Given the description of an element on the screen output the (x, y) to click on. 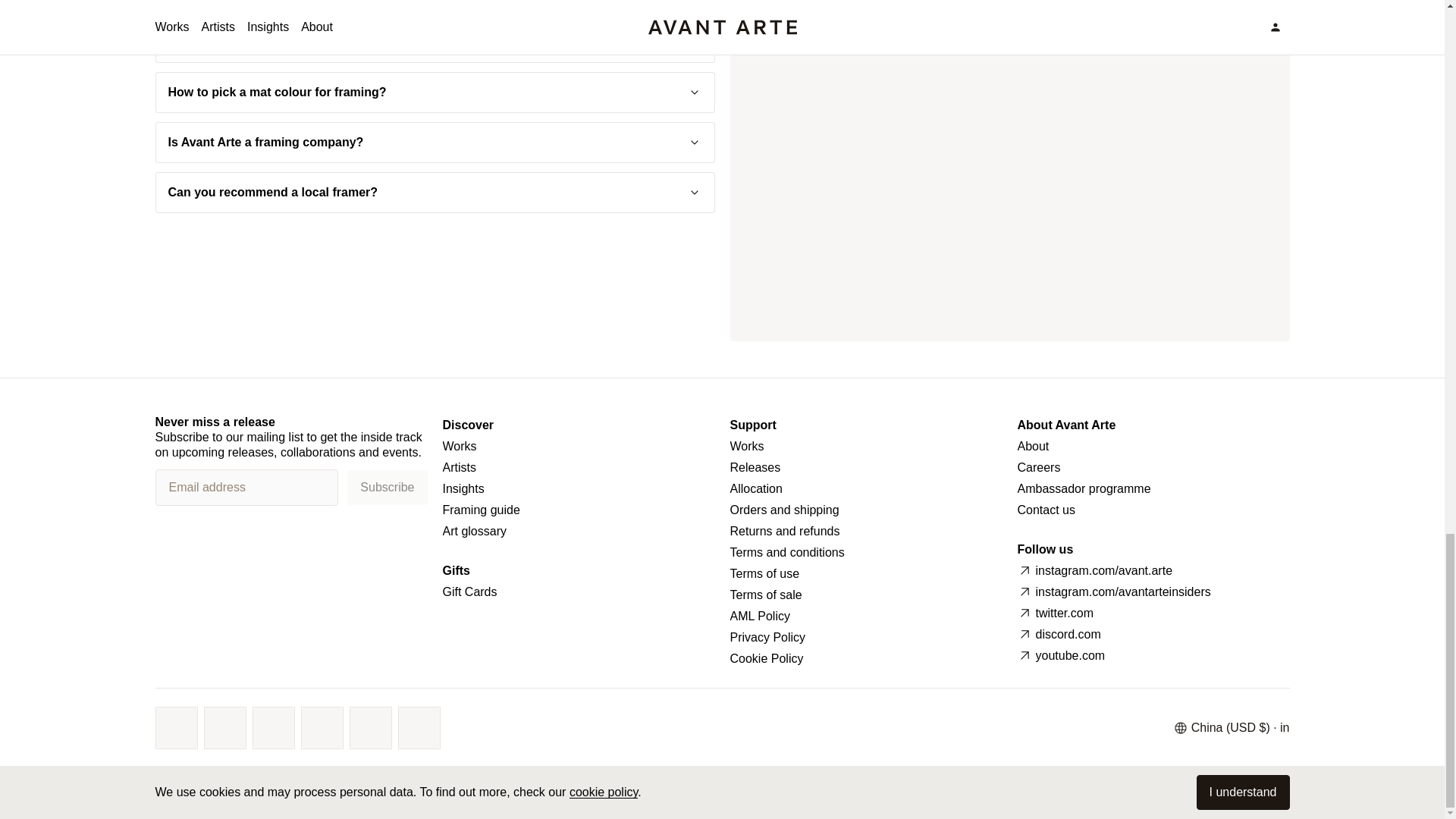
weChat (370, 727)
americanExpress (273, 727)
payPal (321, 727)
cryptoCom (418, 727)
masterCard (225, 727)
visa (175, 727)
